Given the description of an element on the screen output the (x, y) to click on. 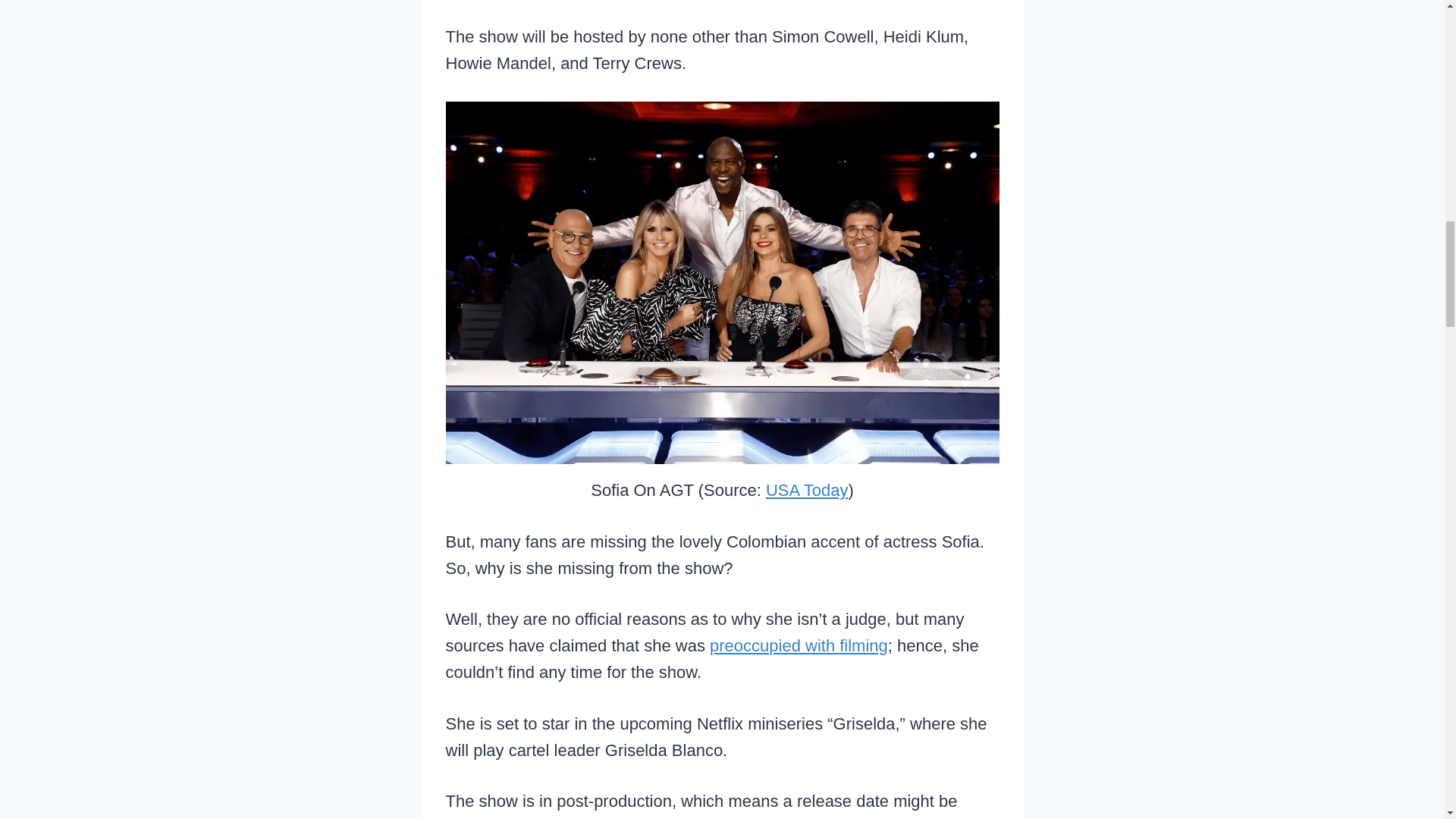
USA Today (806, 489)
preoccupied with filming (799, 645)
